Given the description of an element on the screen output the (x, y) to click on. 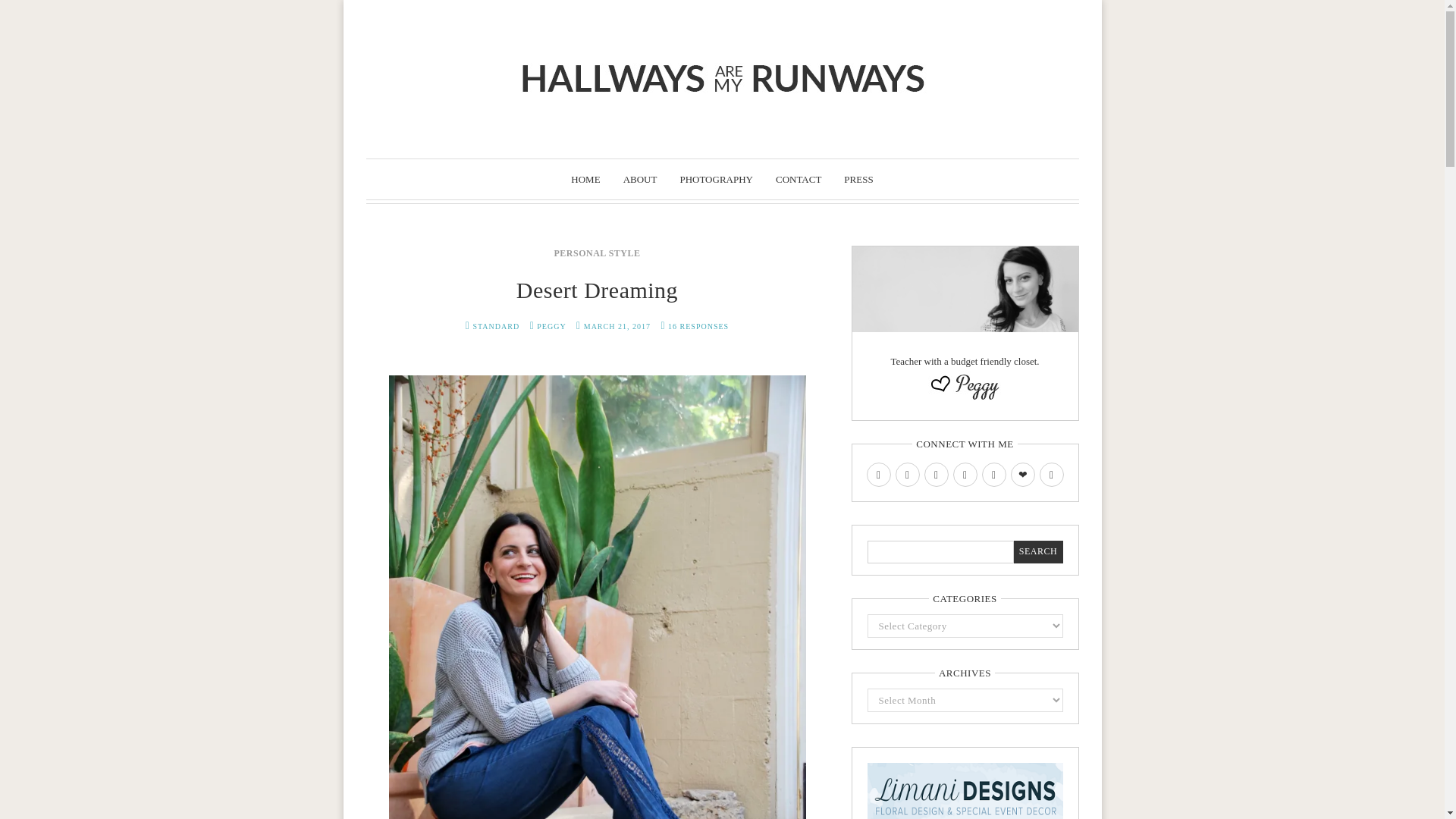
Posts by Peggy (551, 326)
PRESS (858, 179)
CONTACT (798, 179)
Search (1037, 551)
16 RESPONSES (698, 326)
ABOUT (640, 179)
Desert Dreaming (597, 289)
PEGGY (551, 326)
HOME (584, 179)
PERSONAL STYLE (596, 253)
PHOTOGRAPHY (715, 179)
